Given the description of an element on the screen output the (x, y) to click on. 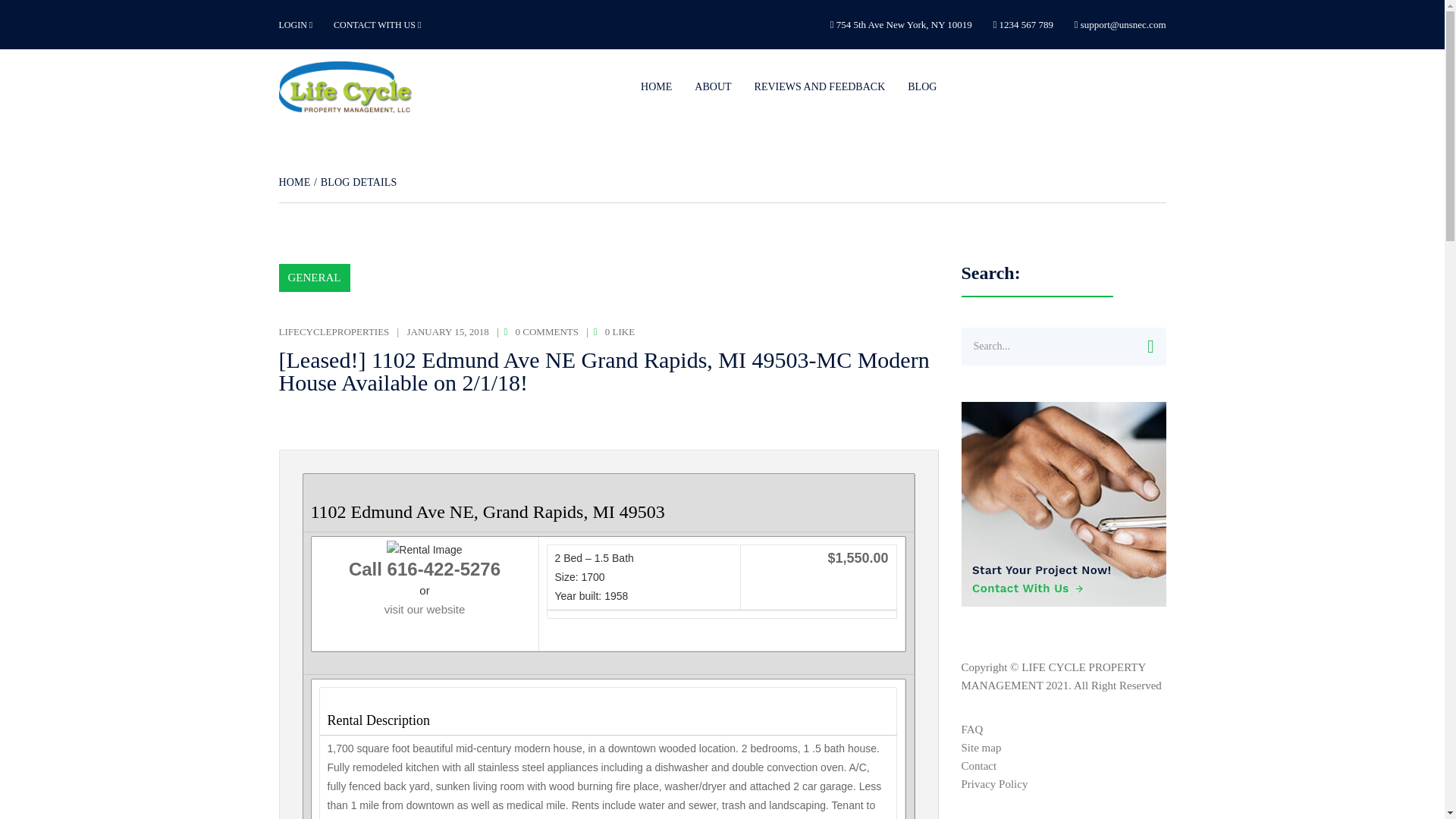
Privacy Policy (993, 784)
REVIEWS AND FEEDBACK (819, 87)
LOGIN (296, 24)
FAQ (972, 729)
Contact (978, 766)
CONTACT WITH US (376, 24)
visit our website (424, 608)
Site map (980, 747)
HOME (295, 182)
GENERAL (314, 277)
